Given the description of an element on the screen output the (x, y) to click on. 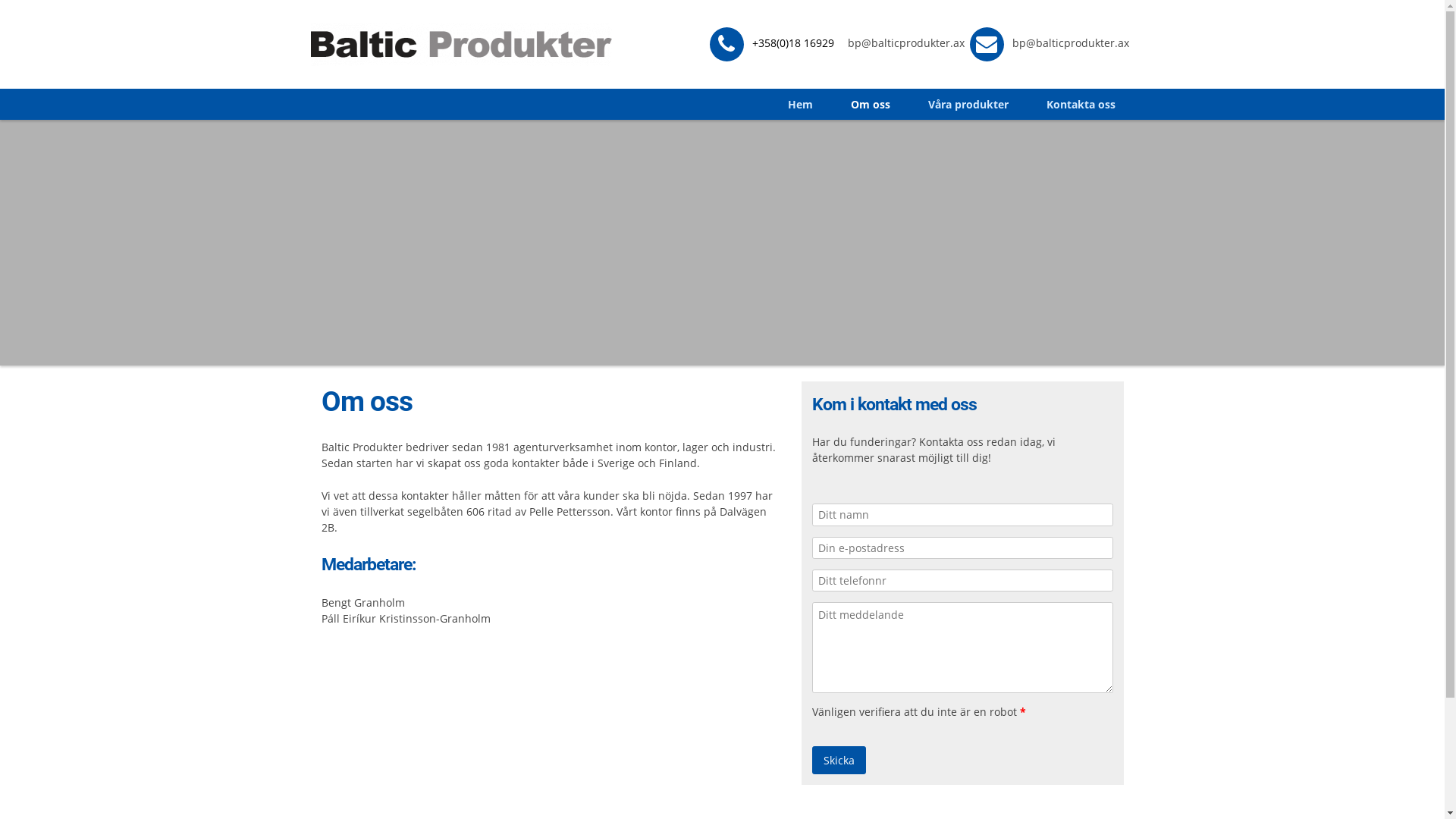
Kontakta oss Element type: text (1079, 103)
Skicka Element type: text (839, 760)
+358(0)18 16929 Element type: text (769, 42)
Hem Element type: text (809, 103)
Om oss Element type: text (869, 103)
